Given the description of an element on the screen output the (x, y) to click on. 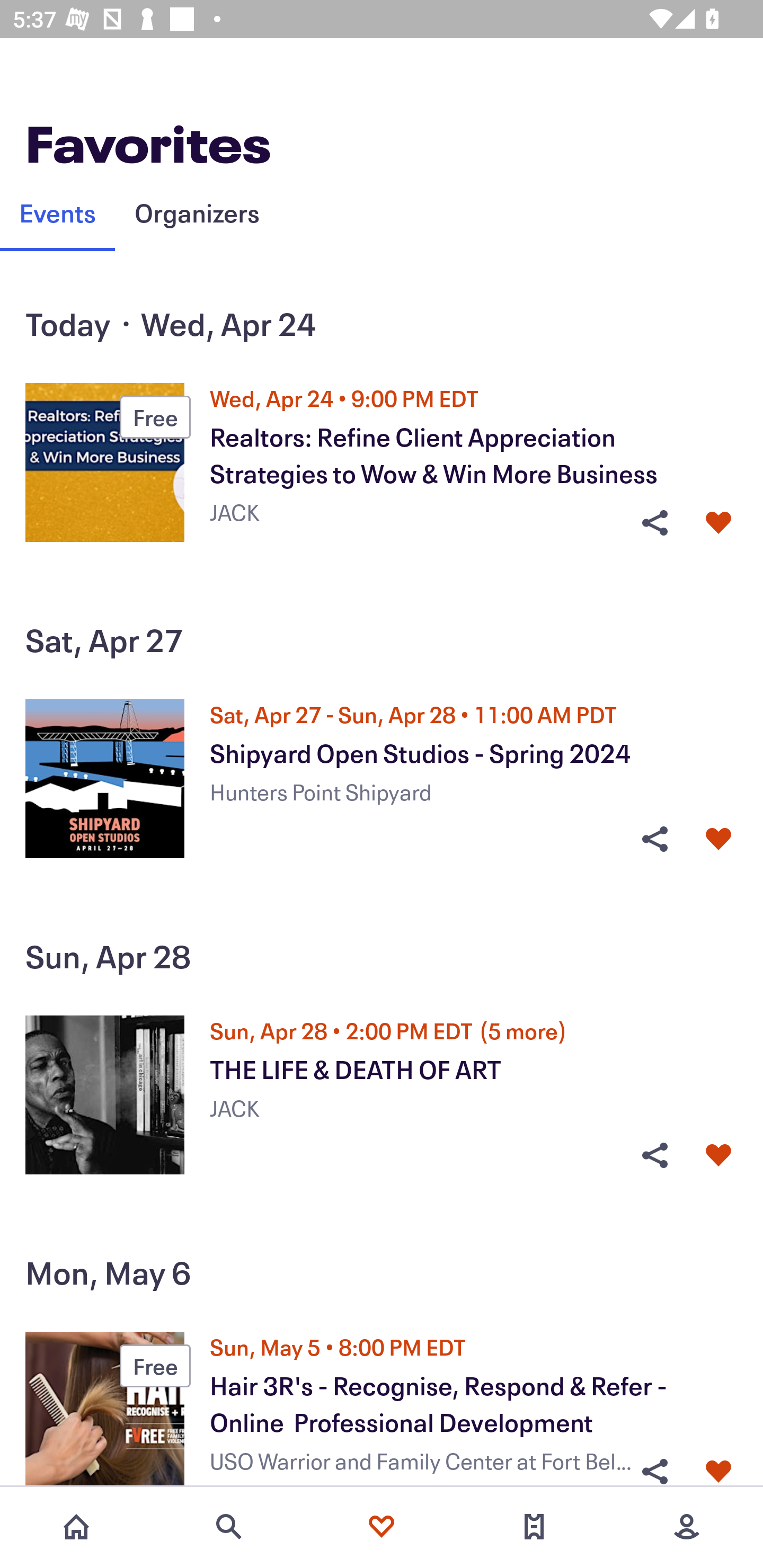
Organizers (196, 212)
Share Event (654, 522)
Unlike event (718, 522)
Share Event (654, 838)
Unlike event (718, 838)
Share Event (654, 1155)
Unlike event (718, 1155)
Share Event (654, 1471)
Unlike event (718, 1471)
Home (76, 1526)
Search events (228, 1526)
Favorites (381, 1526)
Tickets (533, 1526)
More (686, 1526)
